Given the description of an element on the screen output the (x, y) to click on. 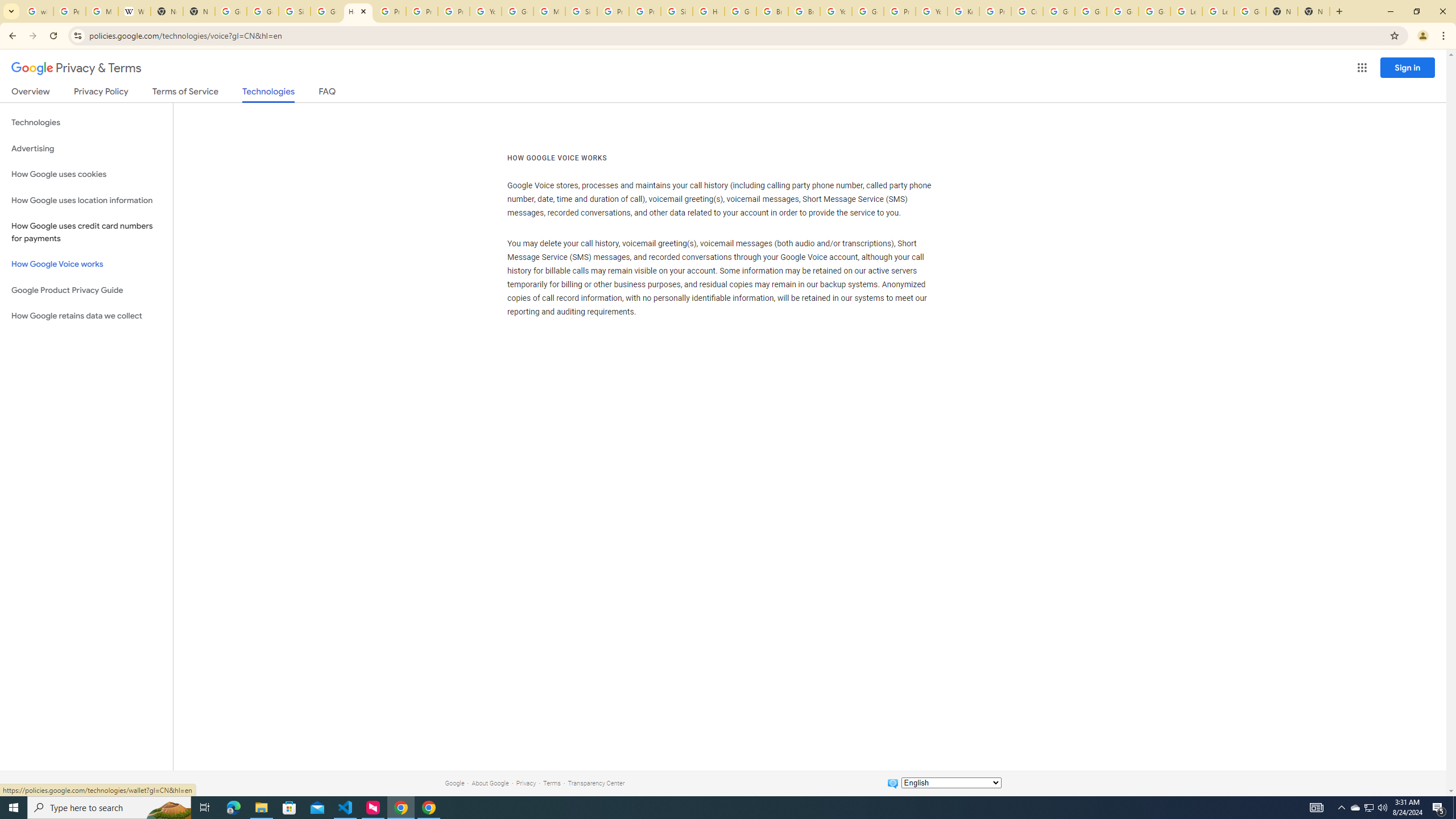
Google Drive: Sign-in (262, 11)
Create your Google Account (1027, 11)
How Google uses location information (86, 199)
Google Account (1249, 11)
Change language: (951, 782)
Google Account Help (868, 11)
